Given the description of an element on the screen output the (x, y) to click on. 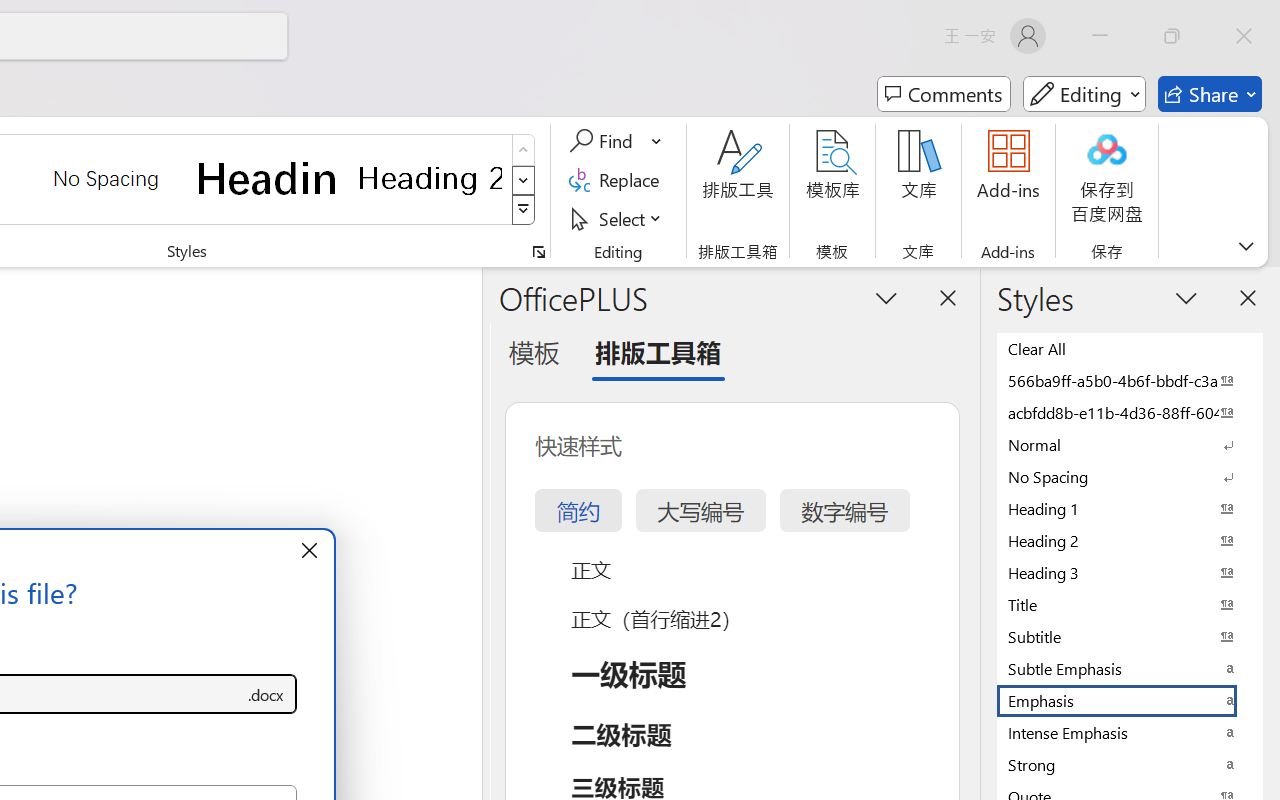
Row up (523, 150)
acbfdd8b-e11b-4d36-88ff-6049b138f862 (1130, 412)
Subtitle (1130, 636)
No Spacing (1130, 476)
Heading 2 (429, 178)
Normal (1130, 444)
Share (1210, 94)
Clear All (1130, 348)
Subtle Emphasis (1130, 668)
Styles... (538, 252)
566ba9ff-a5b0-4b6f-bbdf-c3ab41993fc2 (1130, 380)
